Given the description of an element on the screen output the (x, y) to click on. 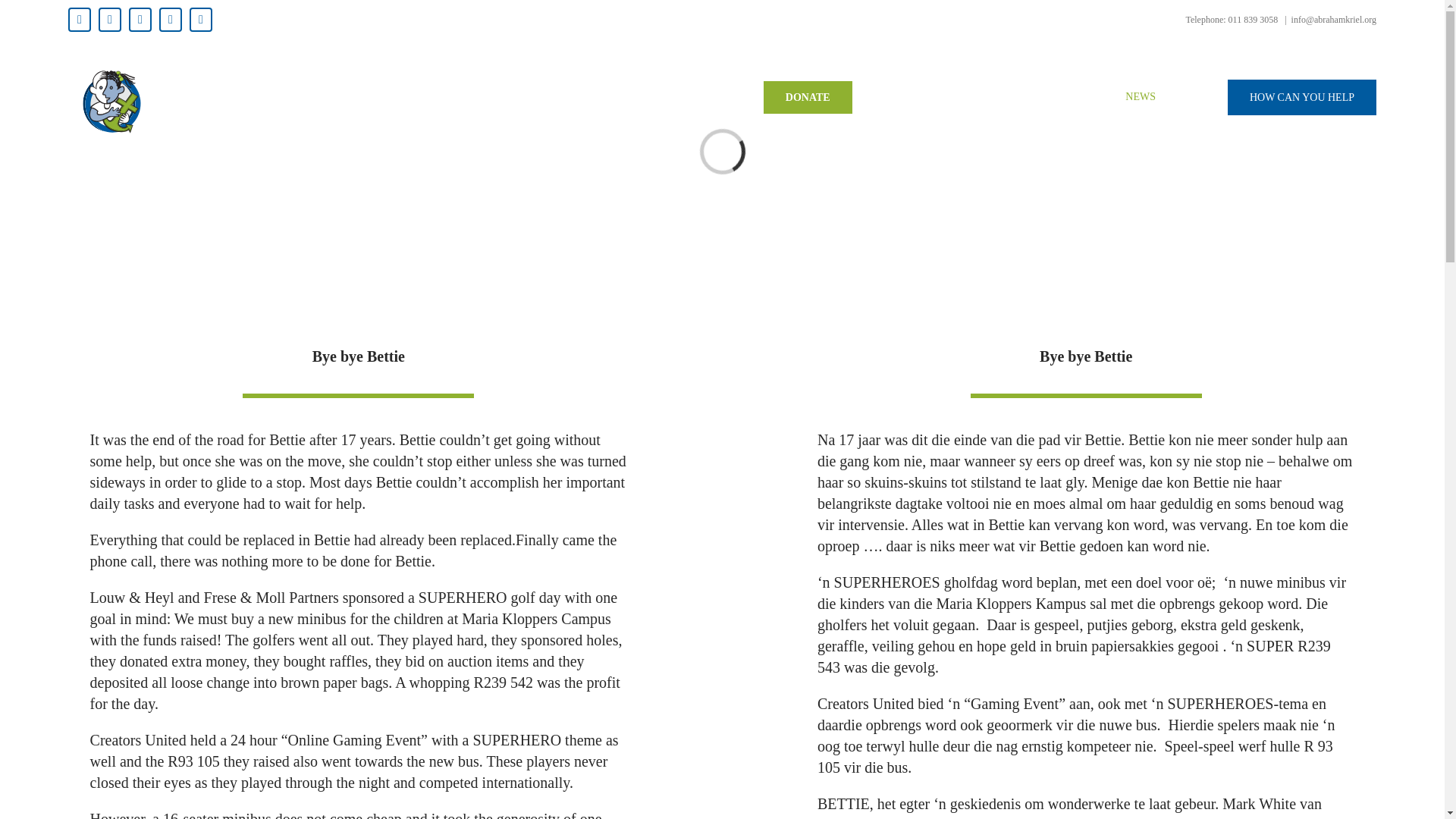
YouTube (170, 19)
Facebook (79, 19)
HOW CAN YOU HELP (1301, 96)
LinkedIn (200, 19)
Instagram (140, 19)
Twitter (109, 19)
Facebook (79, 19)
YouTube (170, 19)
LinkedIn (200, 19)
Instagram (140, 19)
